Given the description of an element on the screen output the (x, y) to click on. 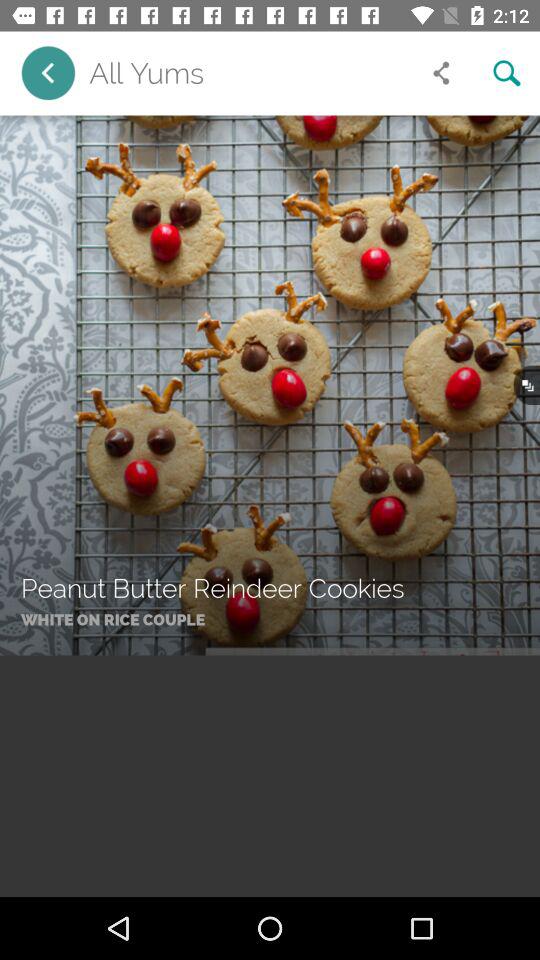
tap the item next to all yums item (48, 72)
